Given the description of an element on the screen output the (x, y) to click on. 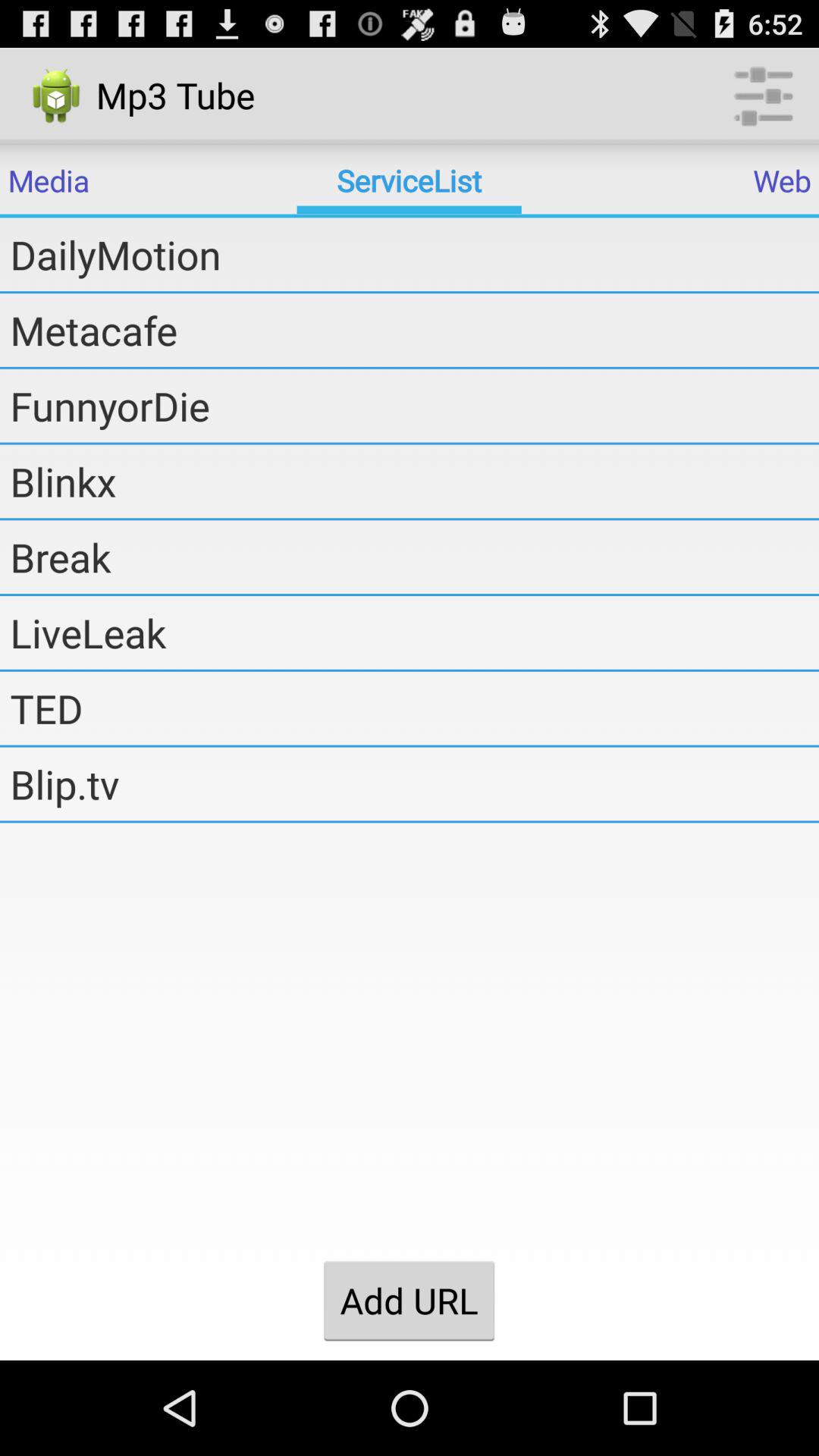
launch the dailymotion icon (414, 254)
